Given the description of an element on the screen output the (x, y) to click on. 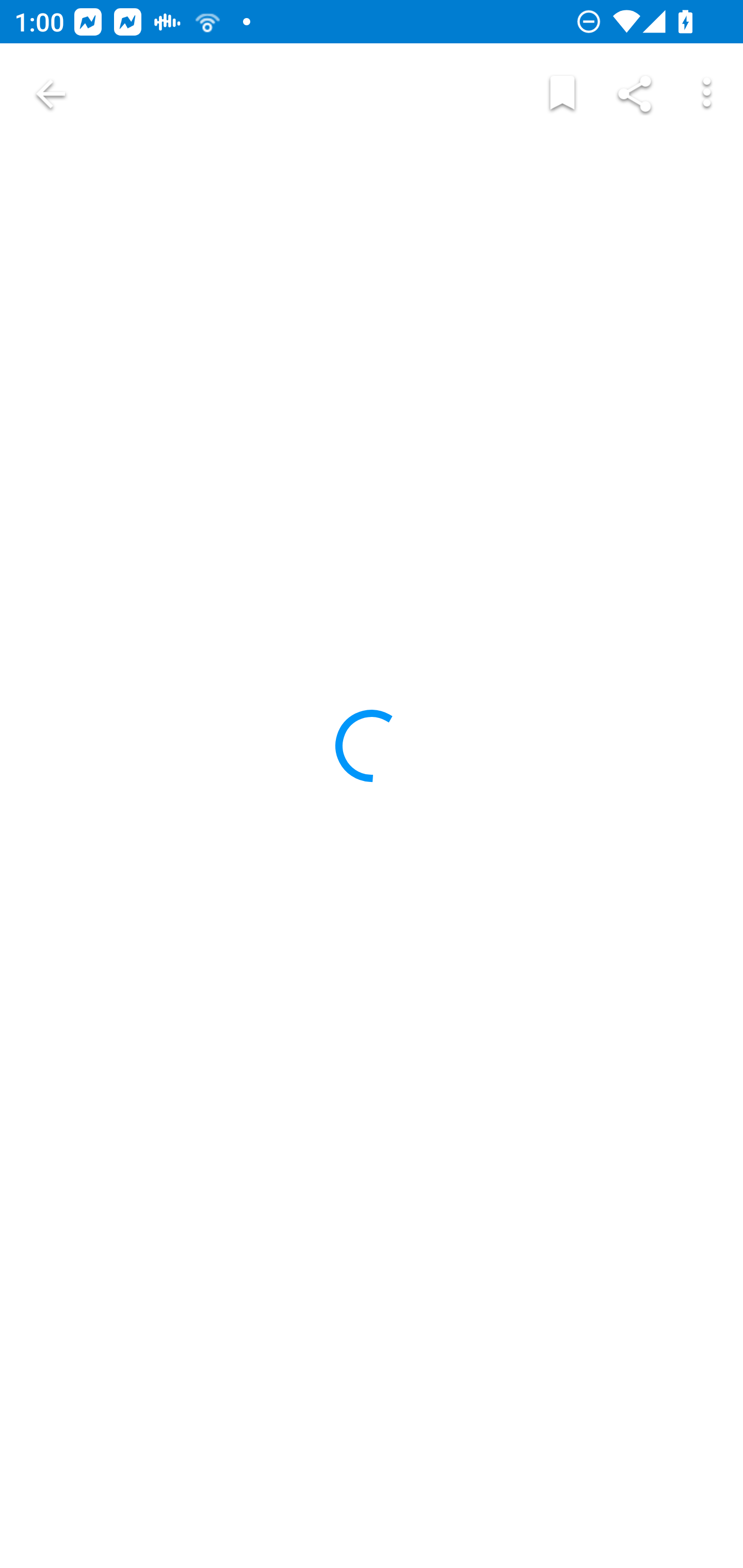
Navigate up (50, 93)
Markers (562, 93)
Share (634, 93)
More options (706, 93)
